Given the description of an element on the screen output the (x, y) to click on. 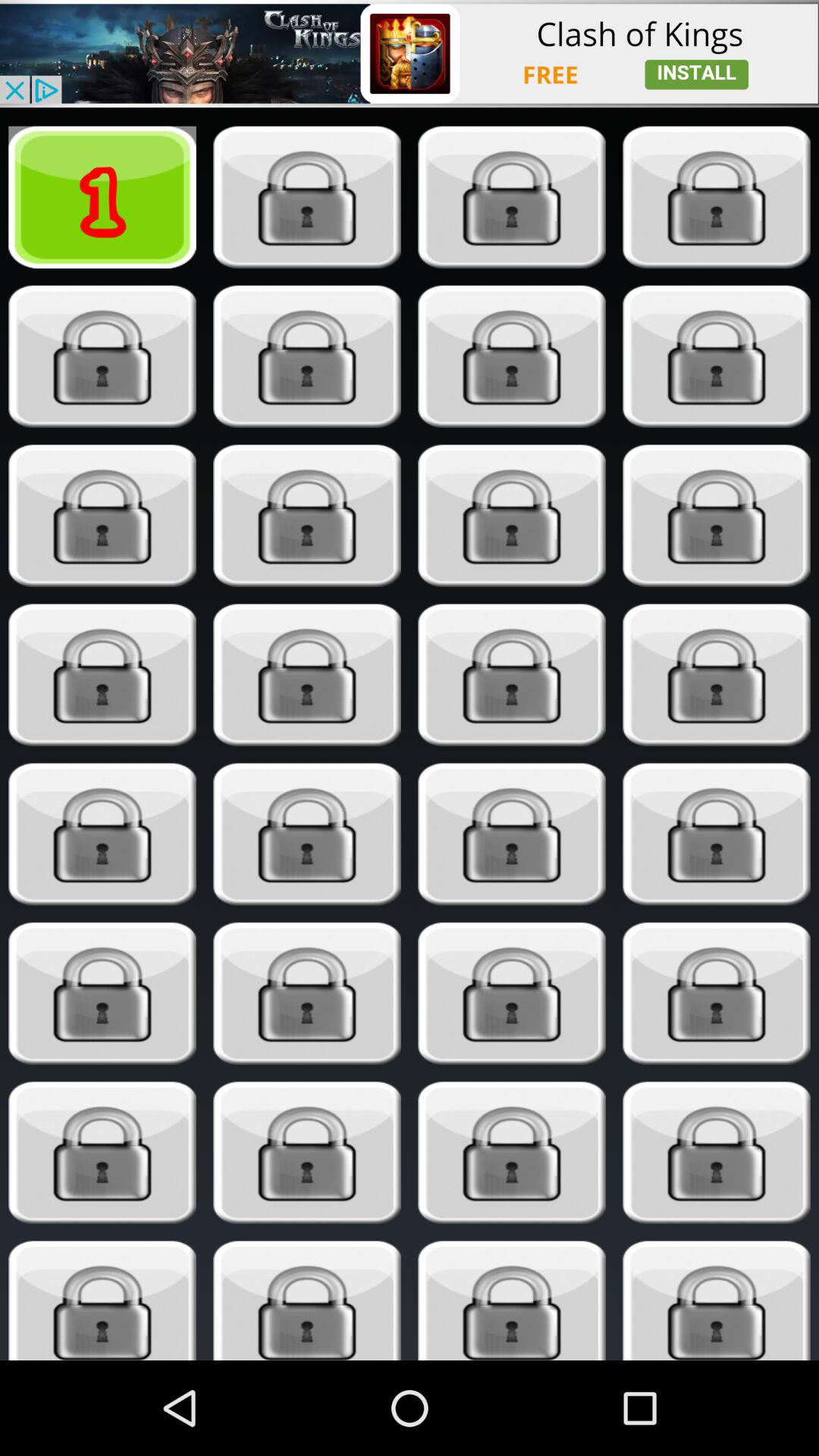
look here (306, 1152)
